Given the description of an element on the screen output the (x, y) to click on. 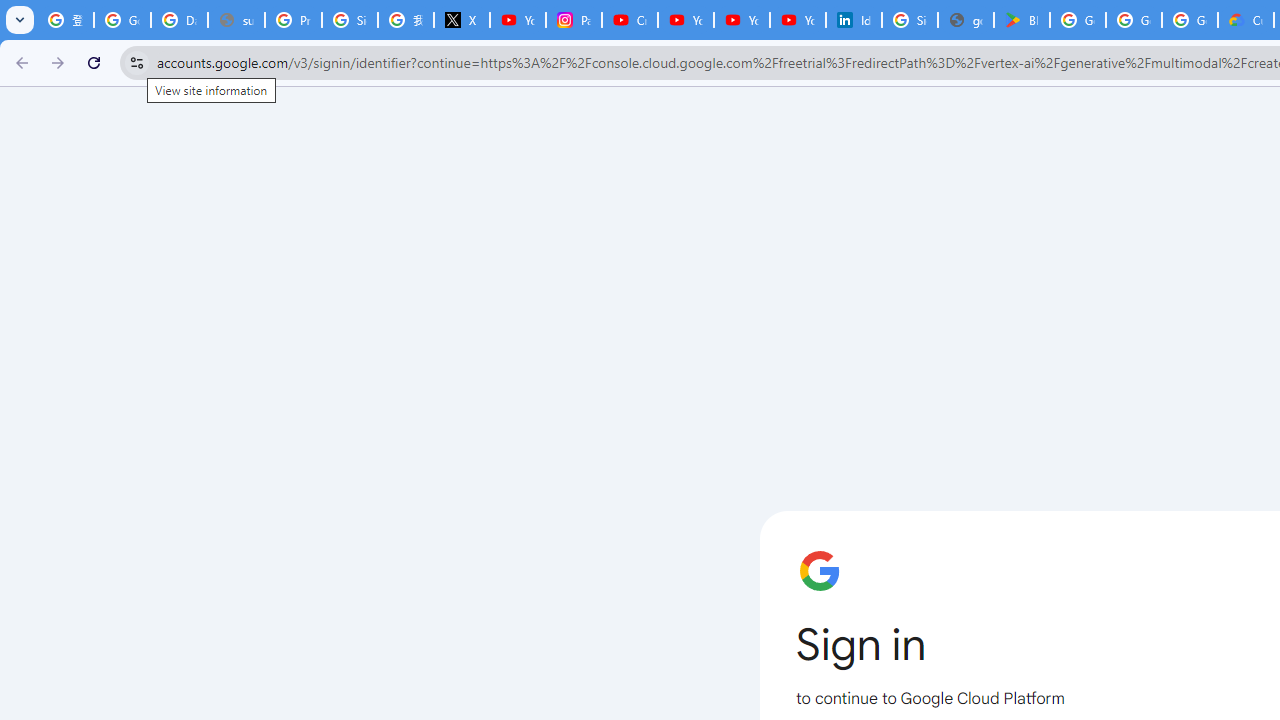
Bluey: Let's Play! - Apps on Google Play (1021, 20)
support.google.com - Network error (235, 20)
Sign in - Google Accounts (349, 20)
Google Workspace - Specific Terms (1133, 20)
X (461, 20)
google_privacy_policy_en.pdf (966, 20)
